Given the description of an element on the screen output the (x, y) to click on. 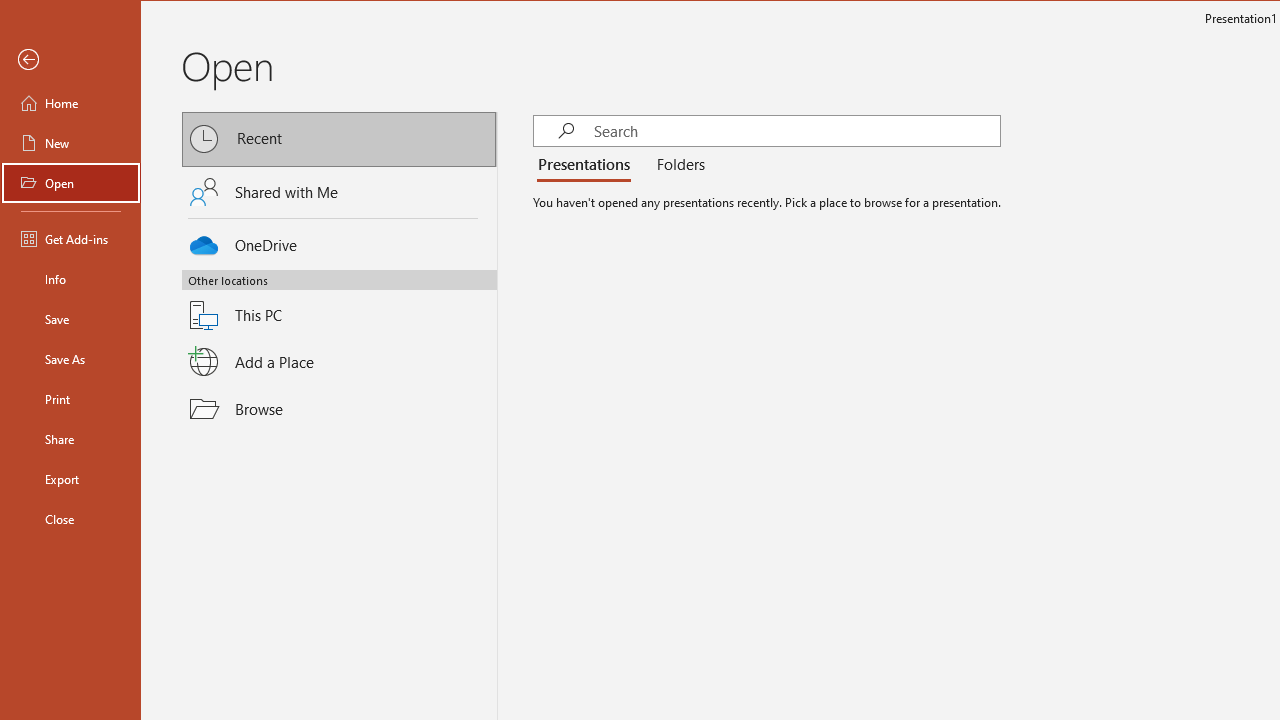
Export (70, 478)
New (70, 142)
Info (70, 278)
Get Add-ins (70, 238)
Add a Place (339, 361)
Recent (339, 139)
Back (70, 60)
Presentations (587, 165)
